Given the description of an element on the screen output the (x, y) to click on. 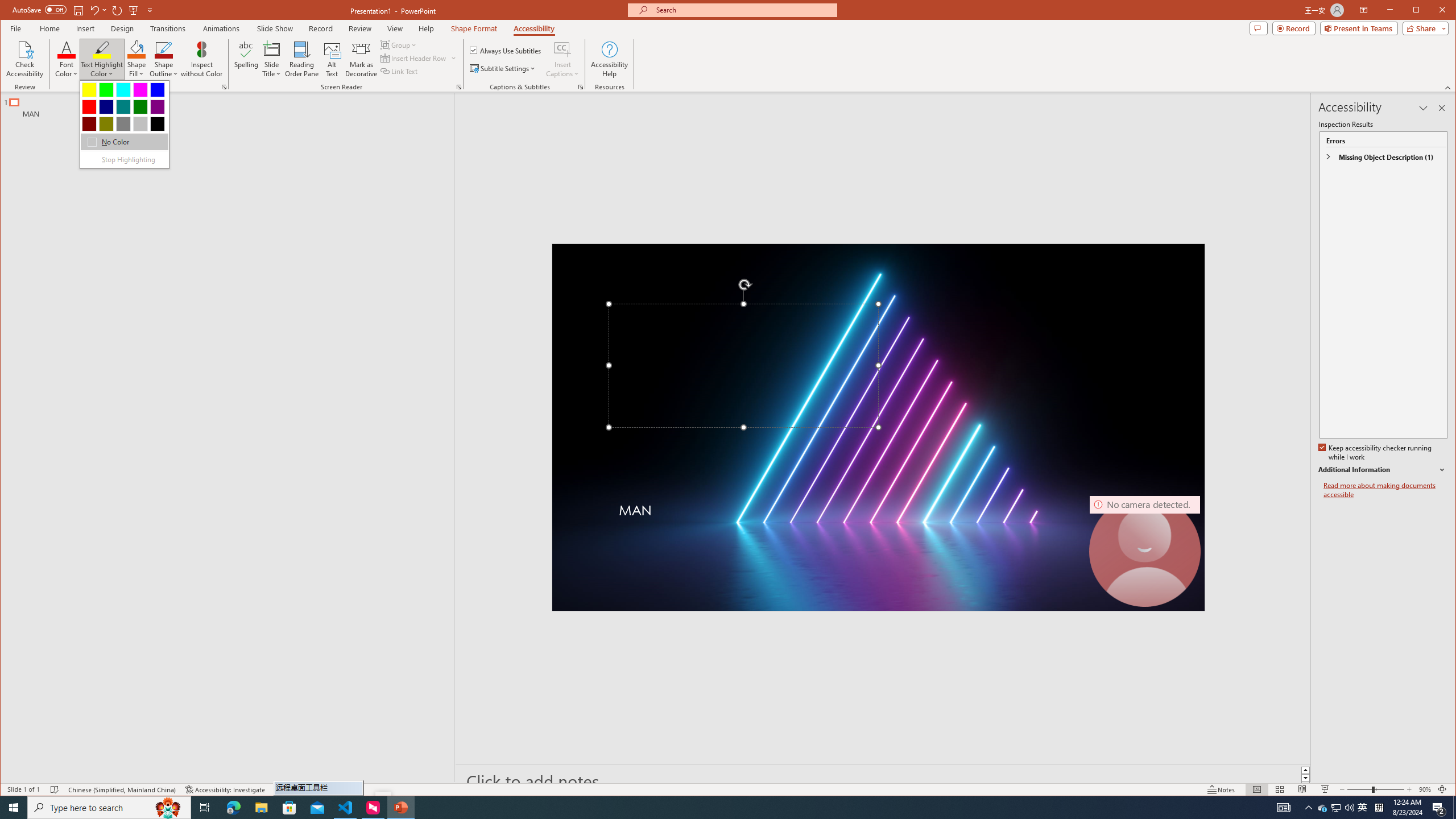
Link Text (399, 70)
Slide Title (271, 48)
Insert Header Row (413, 57)
Maximize (1432, 11)
Keep accessibility checker running while I work (1375, 452)
